Given the description of an element on the screen output the (x, y) to click on. 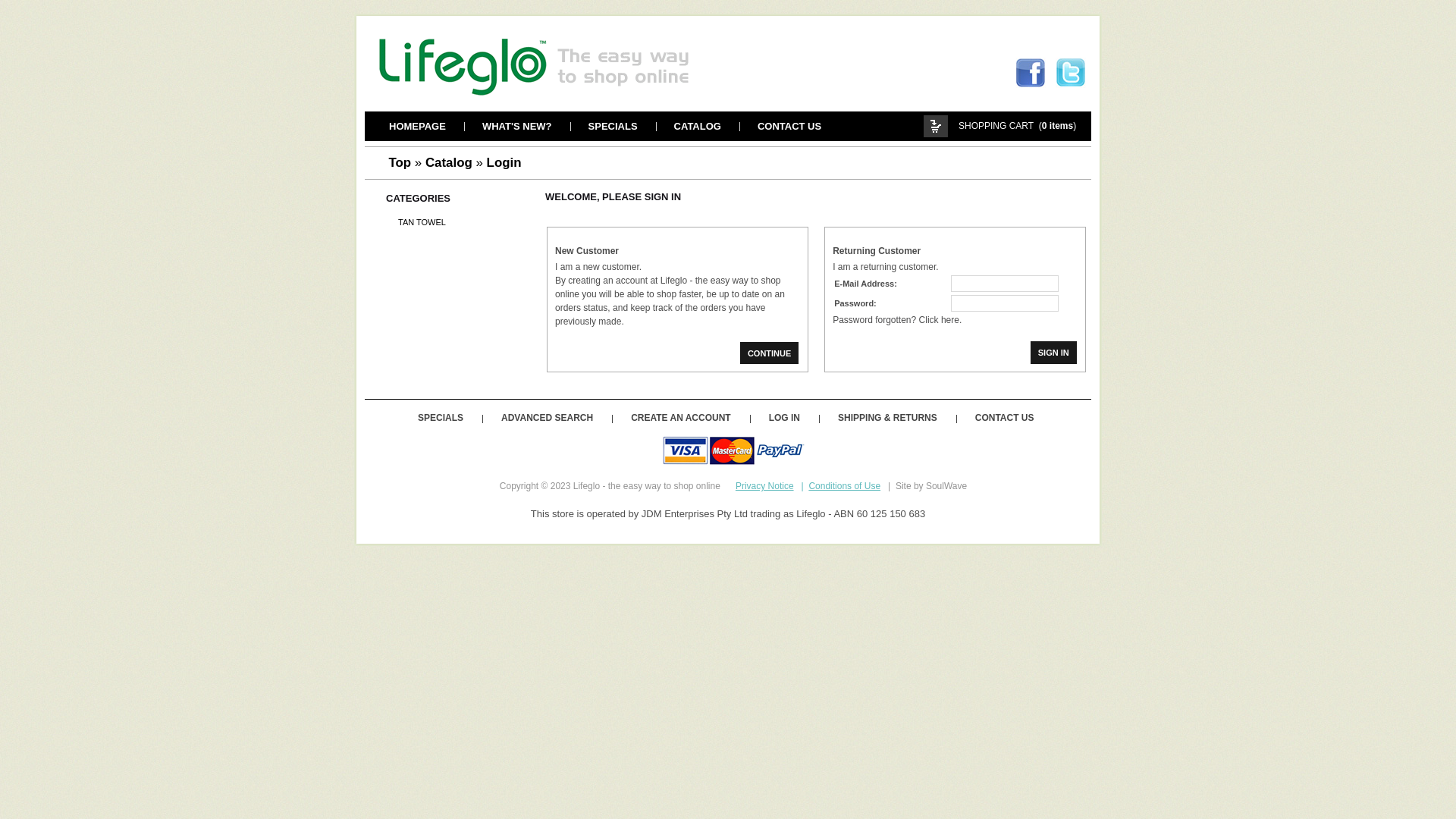
CREATE AN ACCOUNT Element type: text (680, 417)
CATALOG Element type: text (697, 126)
 Lifeglo - the easy way to shop online  Element type: hover (580, 66)
CONTINUE Element type: text (769, 353)
ADVANCED SEARCH Element type: text (546, 417)
Conditions of Use Element type: text (844, 485)
CONTACT US Element type: text (789, 126)
Lifeglo - the easy way to shop online      Element type: text (654, 485)
SPECIALS Element type: text (612, 126)
Password forgotten? Click here. Element type: text (896, 319)
WHAT'S NEW? Element type: text (517, 126)
Catalog Element type: text (448, 162)
TAN TOWEL Element type: text (421, 222)
Privacy Notice Element type: text (764, 485)
LOG IN Element type: text (784, 417)
Login Element type: text (503, 162)
SHIPPING & RETURNS Element type: text (887, 417)
HOMEPAGE Element type: text (417, 126)
Site by SoulWave Element type: text (930, 485)
Top Element type: text (399, 162)
CONTACT US Element type: text (1004, 417)
SIGN IN Element type: text (1053, 352)
SPECIALS Element type: text (440, 417)
0 items Element type: text (1057, 125)
